Given the description of an element on the screen output the (x, y) to click on. 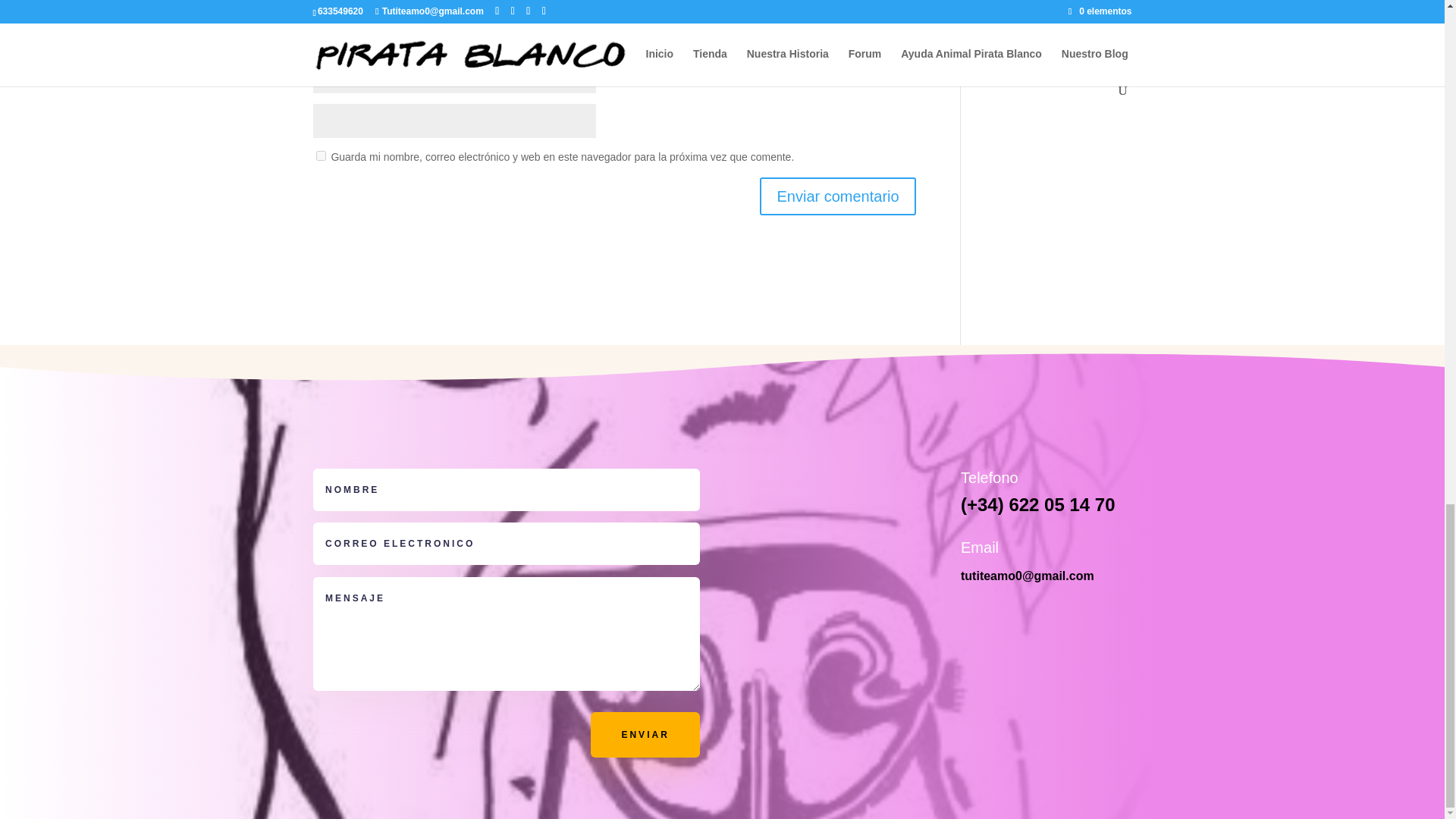
Enviar comentario (837, 196)
yes (319, 155)
ENVIAR (644, 734)
Enviar comentario (837, 196)
